Given the description of an element on the screen output the (x, y) to click on. 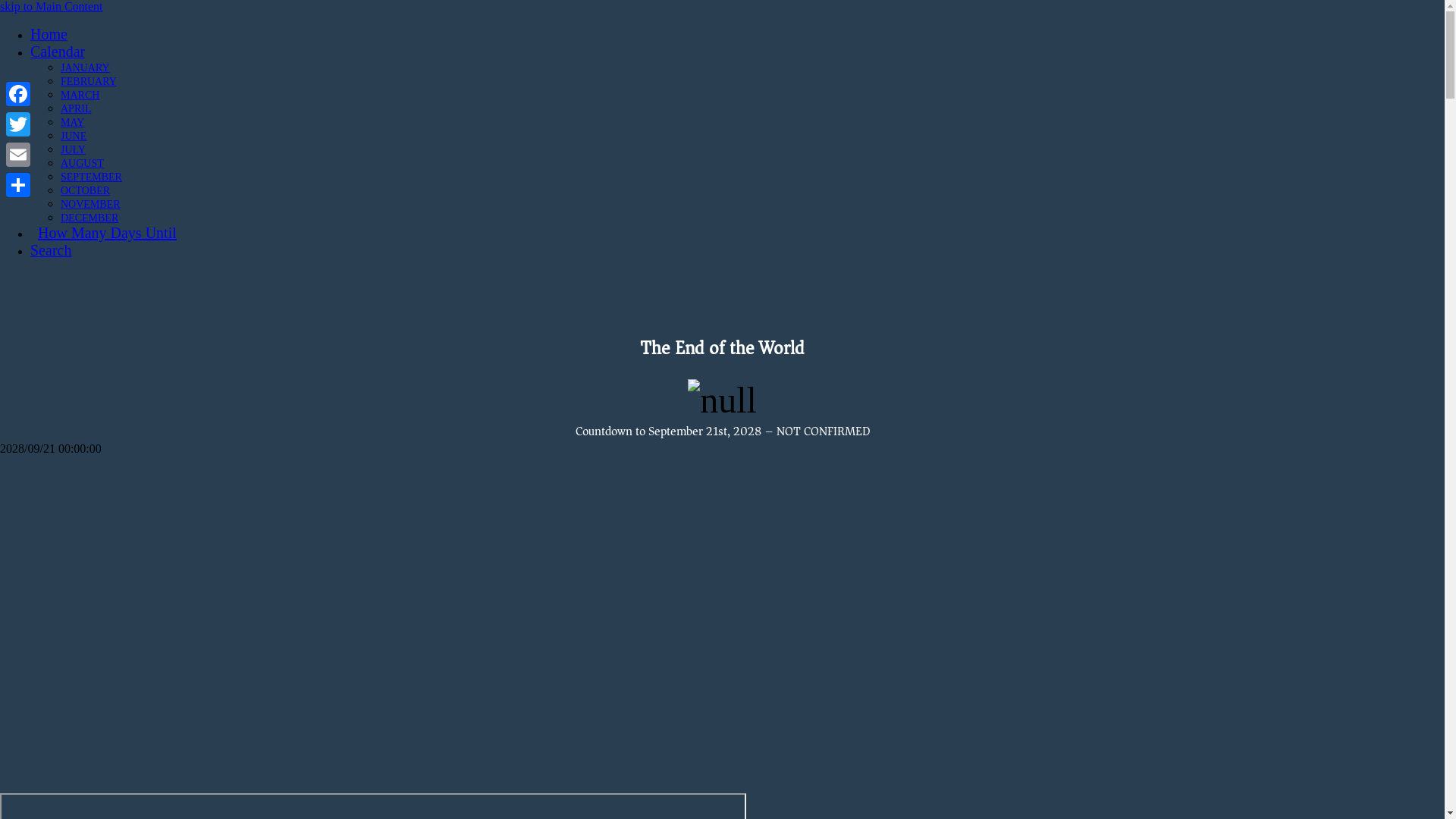
Twitter Element type: text (18, 124)
MAY Element type: text (72, 121)
JUNE Element type: text (73, 134)
Home Element type: text (48, 34)
AUGUST Element type: text (81, 162)
JANUARY Element type: text (84, 66)
Email Element type: text (18, 154)
FEBRUARY Element type: text (88, 80)
APRIL Element type: text (75, 107)
Search Element type: text (50, 250)
SEPTEMBER Element type: text (91, 175)
skip to Main Content Element type: text (51, 6)
NOVEMBER Element type: text (90, 203)
Share Element type: text (18, 184)
JULY Element type: text (72, 148)
Facebook Element type: text (18, 93)
How Many Days Until Element type: text (103, 232)
MARCH Element type: text (79, 93)
OCTOBER Element type: text (84, 189)
Advertisement Element type: hover (455, 573)
Calendar Element type: text (57, 52)
DECEMBER Element type: text (89, 216)
